Given the description of an element on the screen output the (x, y) to click on. 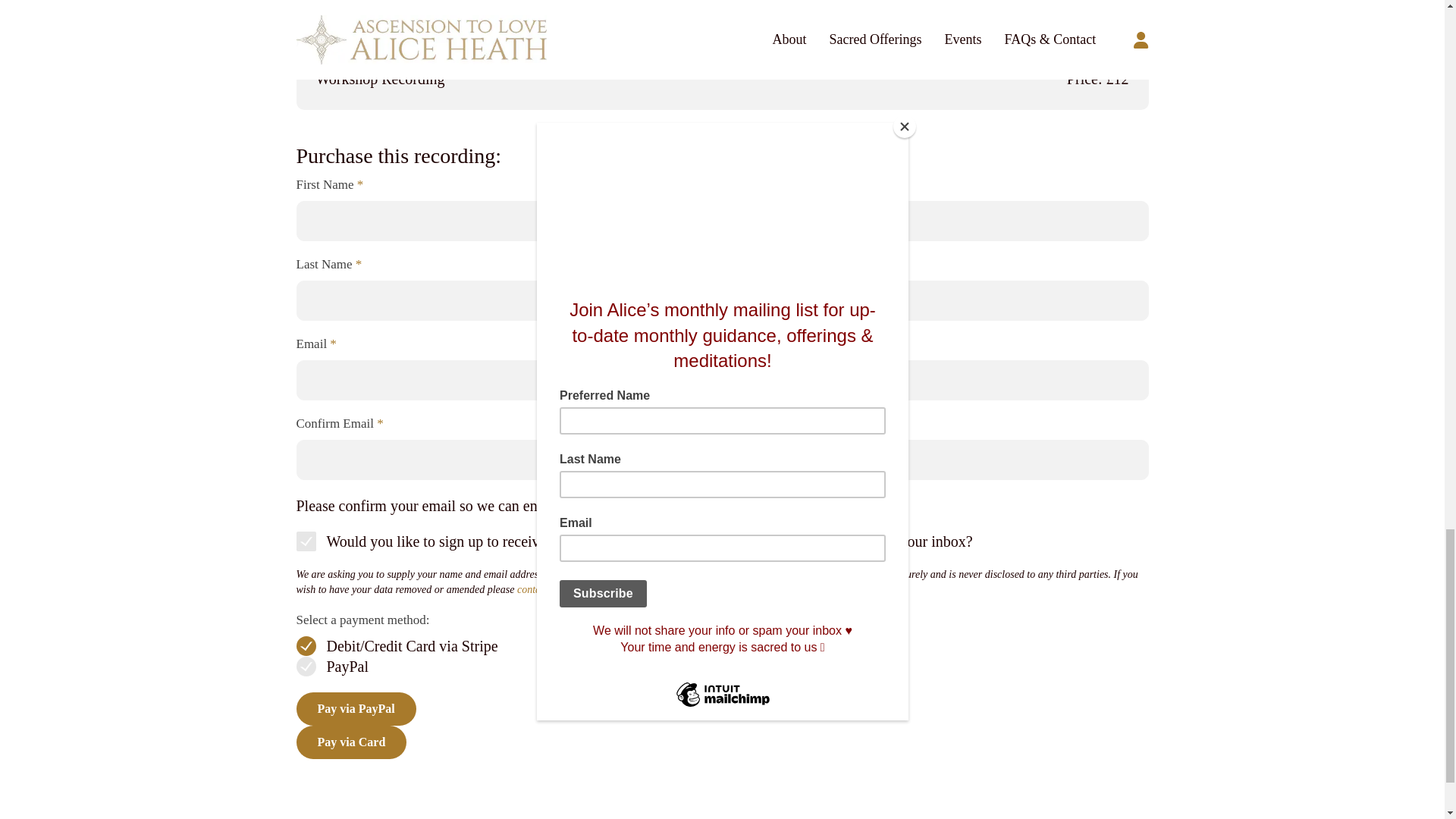
contact us (538, 589)
Pay via PayPal (354, 708)
Pay via Card (350, 742)
